Given the description of an element on the screen output the (x, y) to click on. 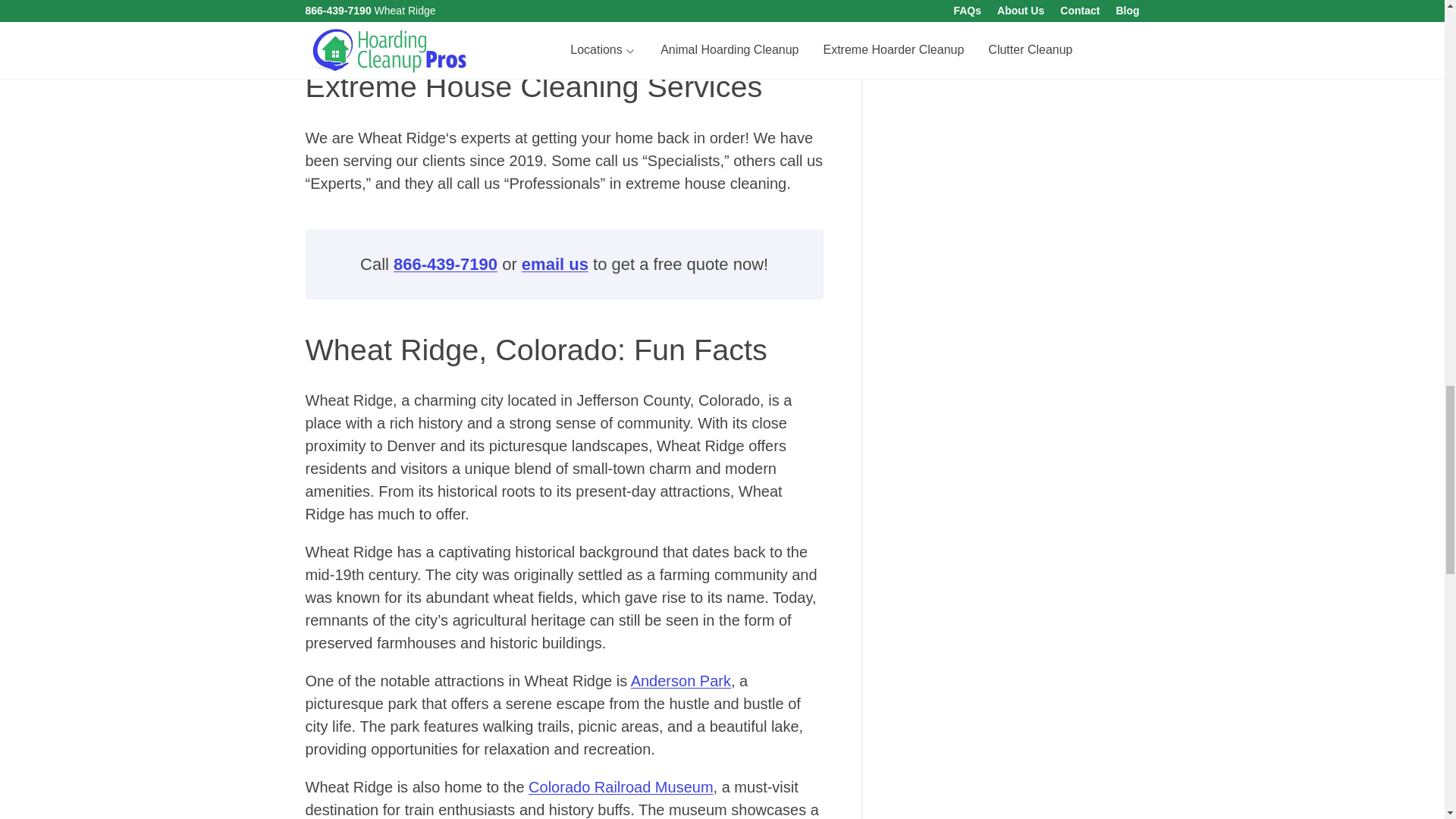
American Psychiatric Association (494, 7)
